Given the description of an element on the screen output the (x, y) to click on. 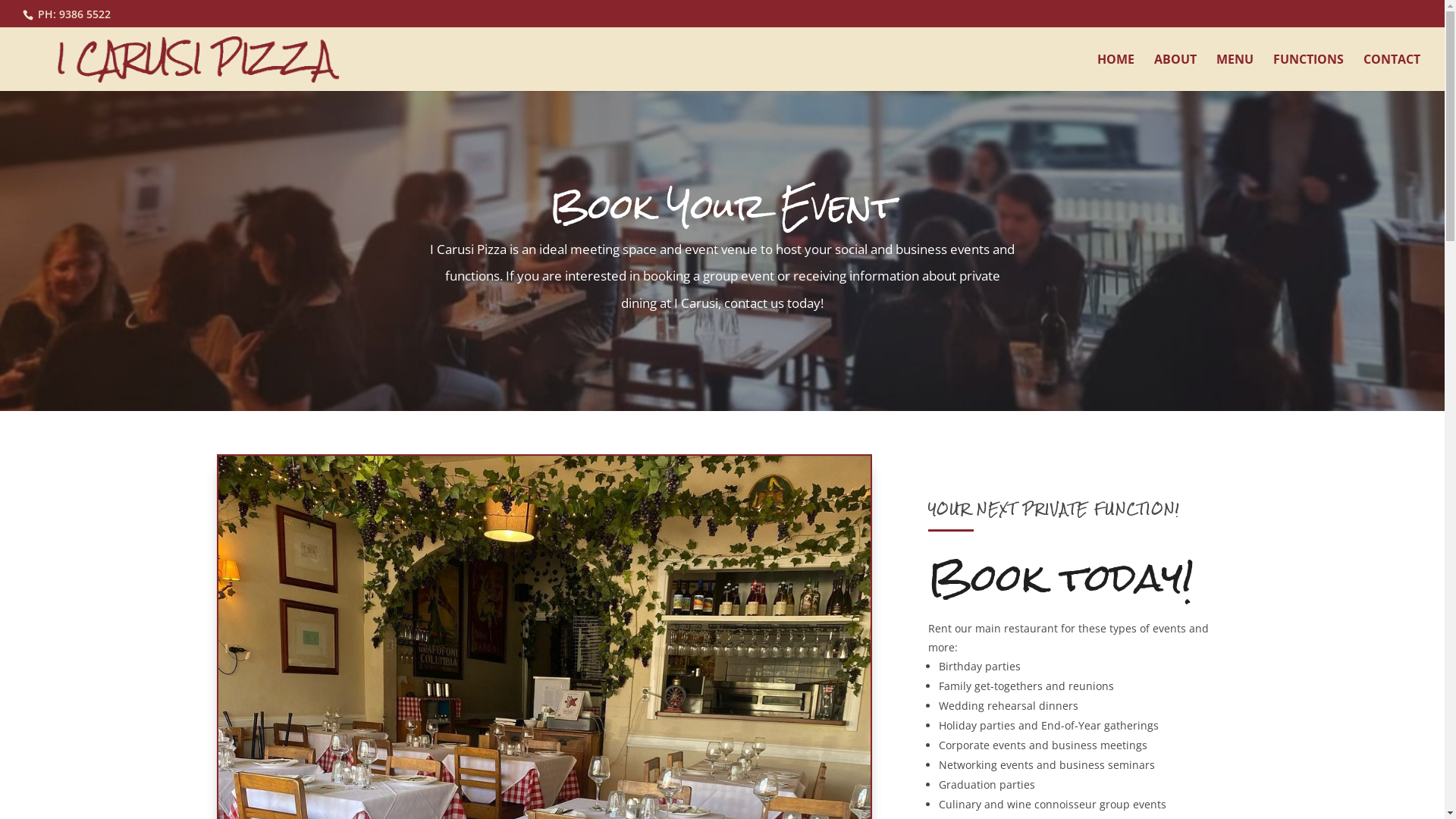
FUNCTIONS Element type: text (1308, 72)
HOME Element type: text (1115, 72)
CONTACT Element type: text (1391, 72)
ABOUT Element type: text (1175, 72)
MENU Element type: text (1234, 72)
